Given the description of an element on the screen output the (x, y) to click on. 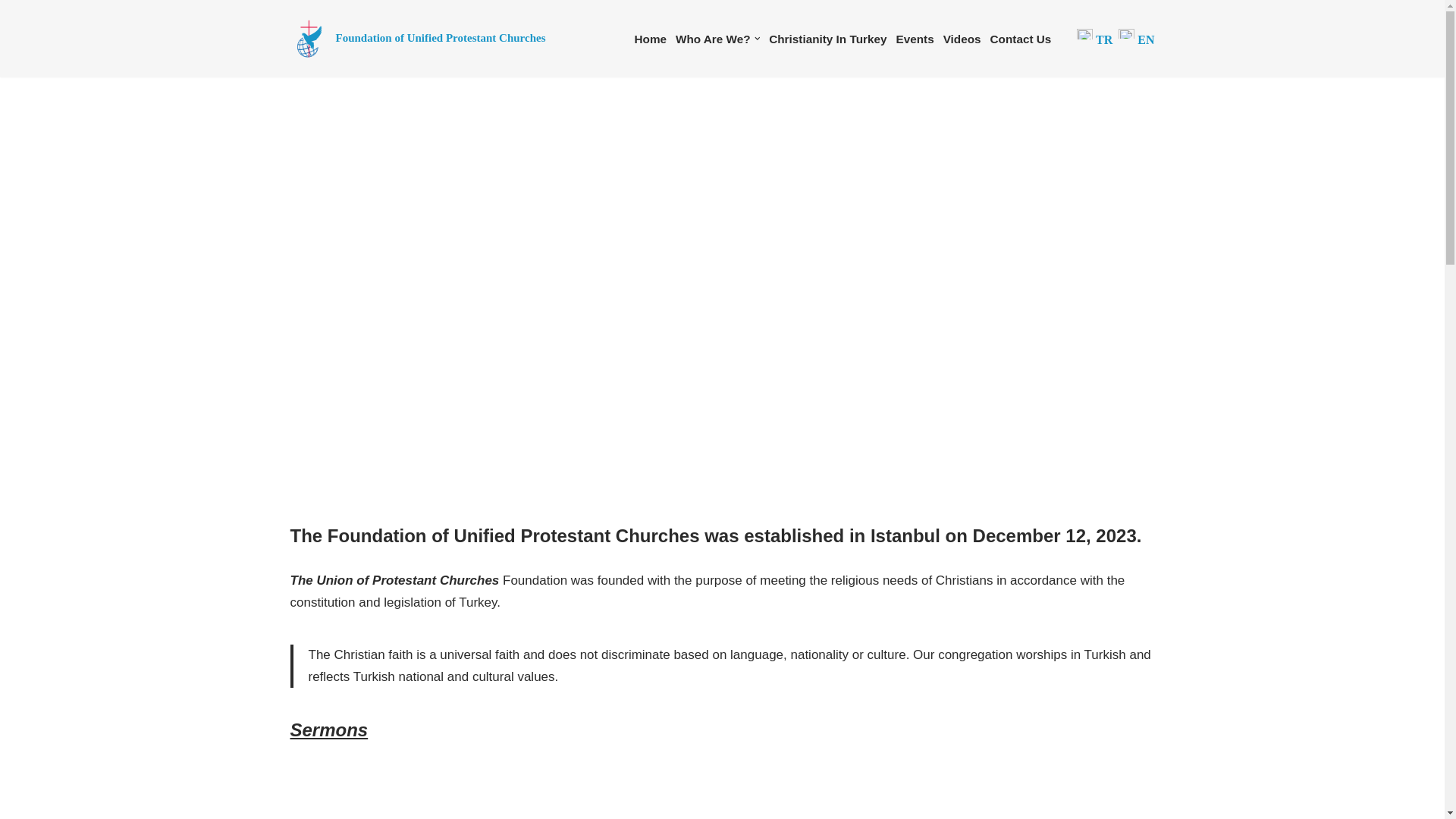
TR (1104, 39)
Videos (962, 37)
Home (649, 37)
Events (915, 37)
YouTube player (721, 791)
Who Are We? (713, 37)
EN (1136, 39)
Christianity In Turkey (827, 37)
Contact Us (1020, 37)
Foundation of Unified Protestant Churches (416, 38)
